Given the description of an element on the screen output the (x, y) to click on. 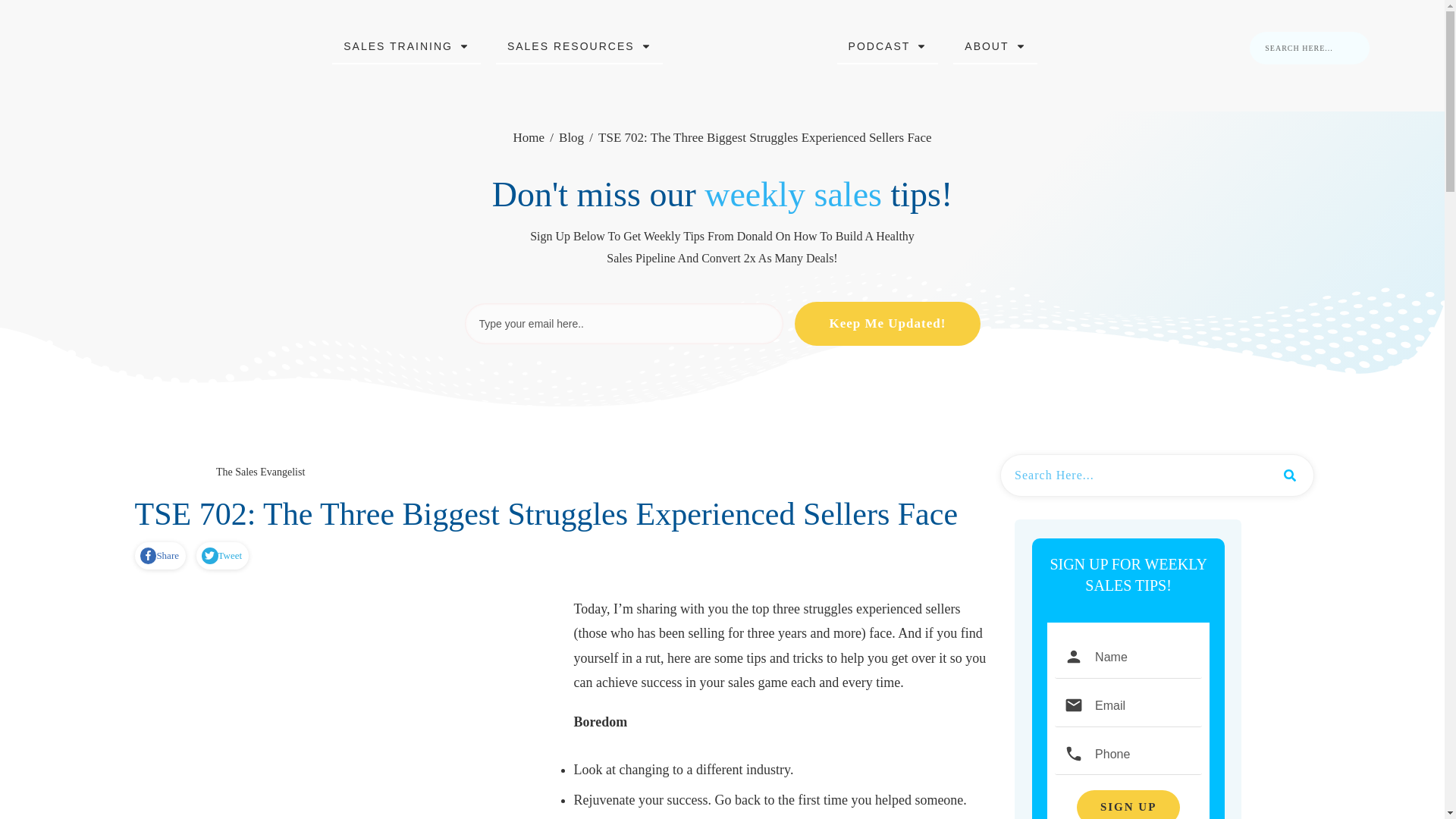
Tweet (221, 555)
SALES TRAINING (405, 46)
ABOUT (994, 46)
Keep Me Updated! (886, 323)
PODCAST (887, 46)
Home (528, 137)
SALES RESOURCES (578, 46)
Split Top With Sidebar (151, 472)
